Given the description of an element on the screen output the (x, y) to click on. 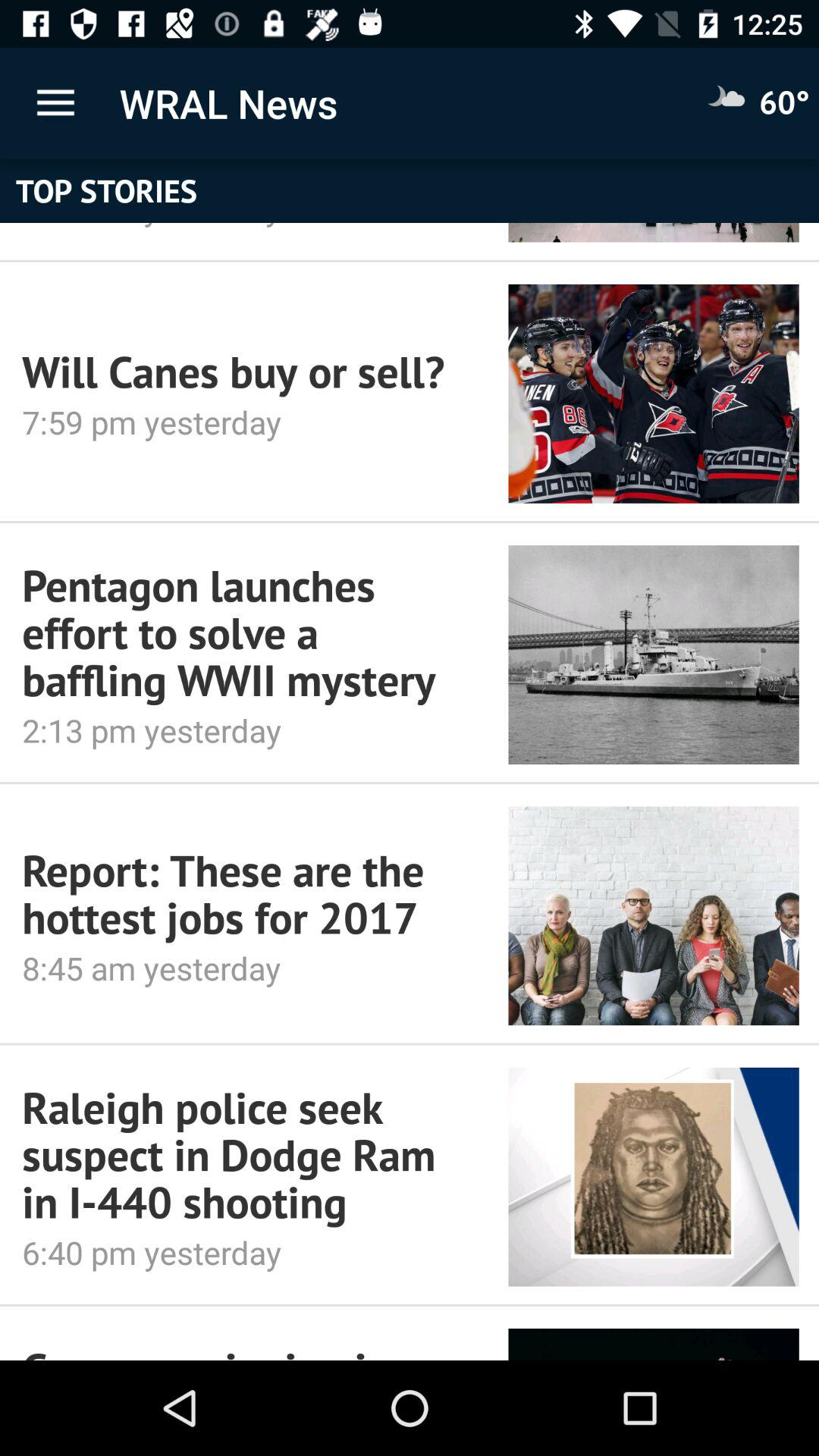
launch the report these are item (244, 894)
